Given the description of an element on the screen output the (x, y) to click on. 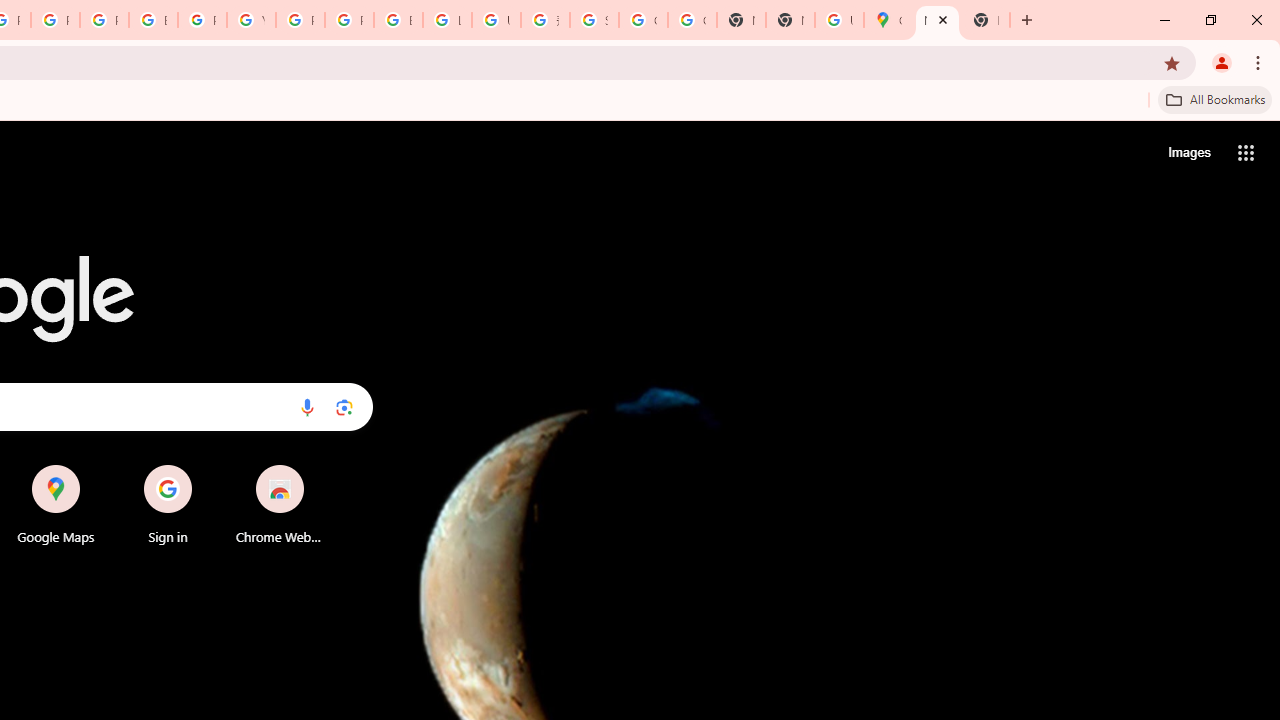
Google Maps (56, 504)
Chrome Web Store (279, 504)
Privacy Help Center - Policies Help (55, 20)
Remove (319, 466)
